Given the description of an element on the screen output the (x, y) to click on. 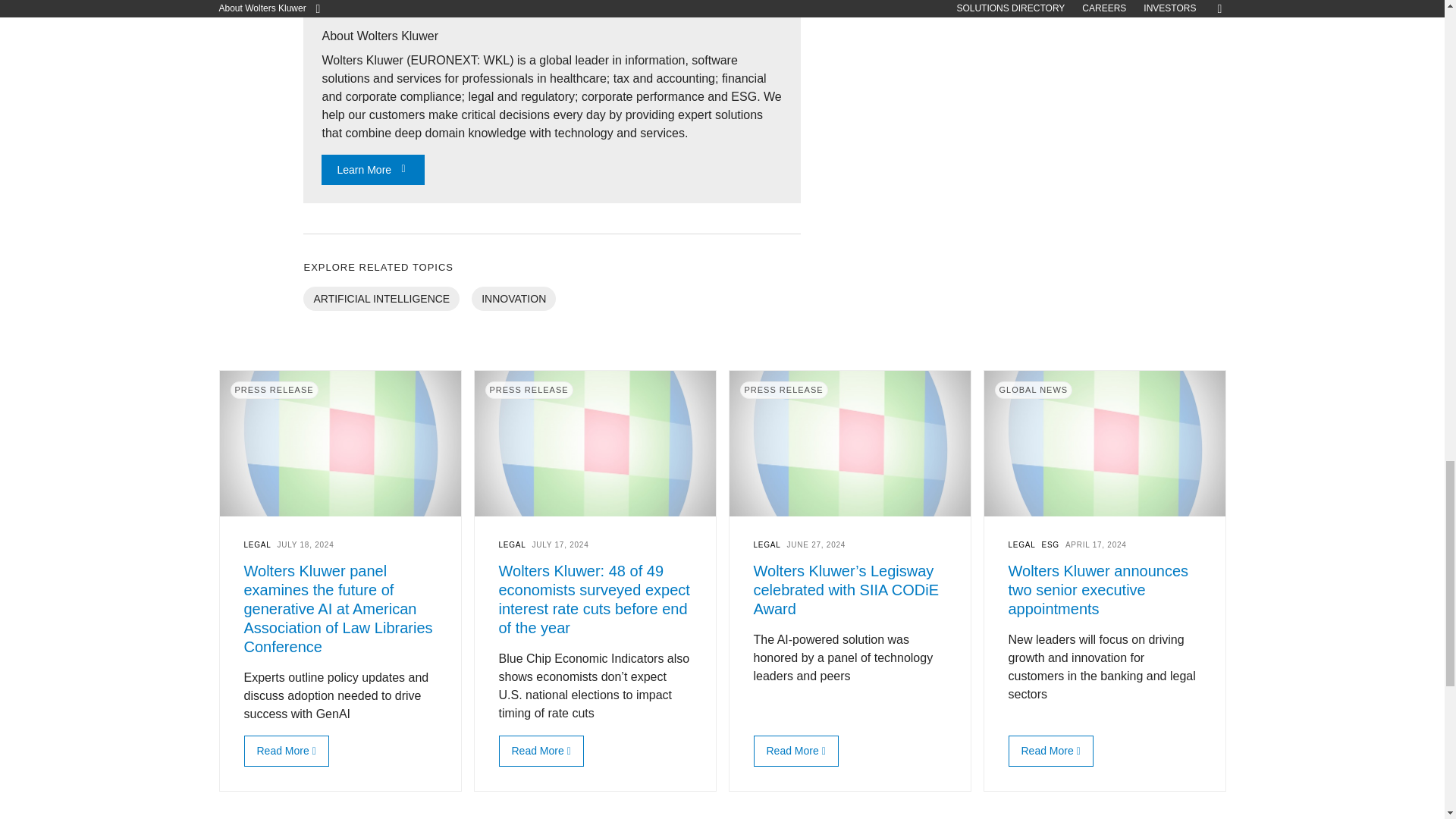
july-bcei (537, 750)
2024-aall-conference (282, 750)
wolters-kluwer-announces-two-senior-executive-appointments (1046, 750)
wolters-kluwers-legisway-celebrated-with-siia-codie-award (791, 750)
wk-icon-arrow-right (403, 168)
